Given the description of an element on the screen output the (x, y) to click on. 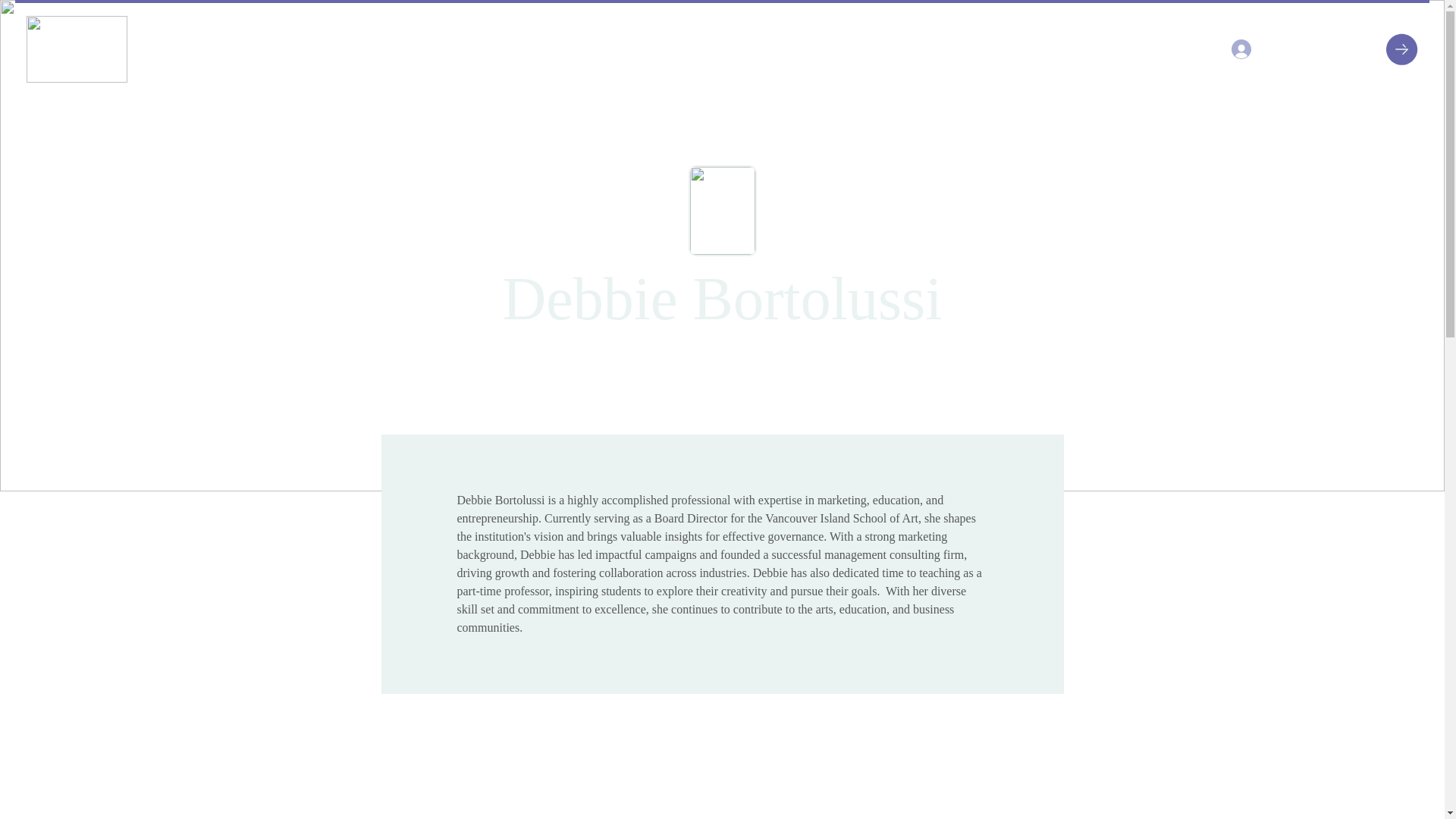
School Info (325, 49)
DONATE (1371, 48)
Log In (1262, 49)
Special Activities (434, 49)
Contact (530, 49)
